Given the description of an element on the screen output the (x, y) to click on. 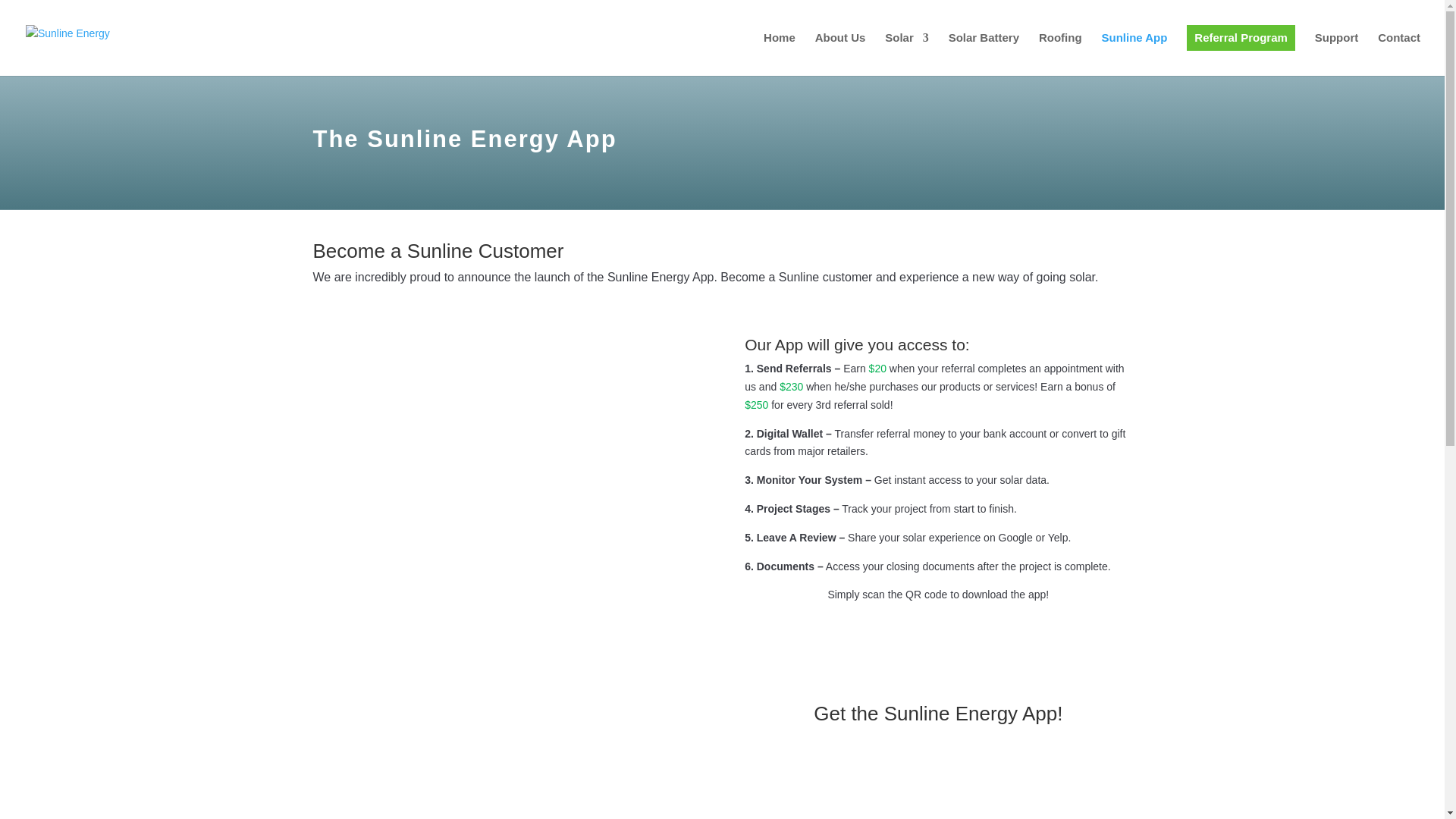
Referral Program (1240, 50)
Home (778, 49)
Get the Sunline App  app on Google Play (938, 817)
Solar (906, 49)
Roofing (1060, 49)
About Us (840, 49)
Support (1336, 49)
Solar Battery (984, 49)
Sunline App (1133, 49)
Contact (1399, 49)
